Given the description of an element on the screen output the (x, y) to click on. 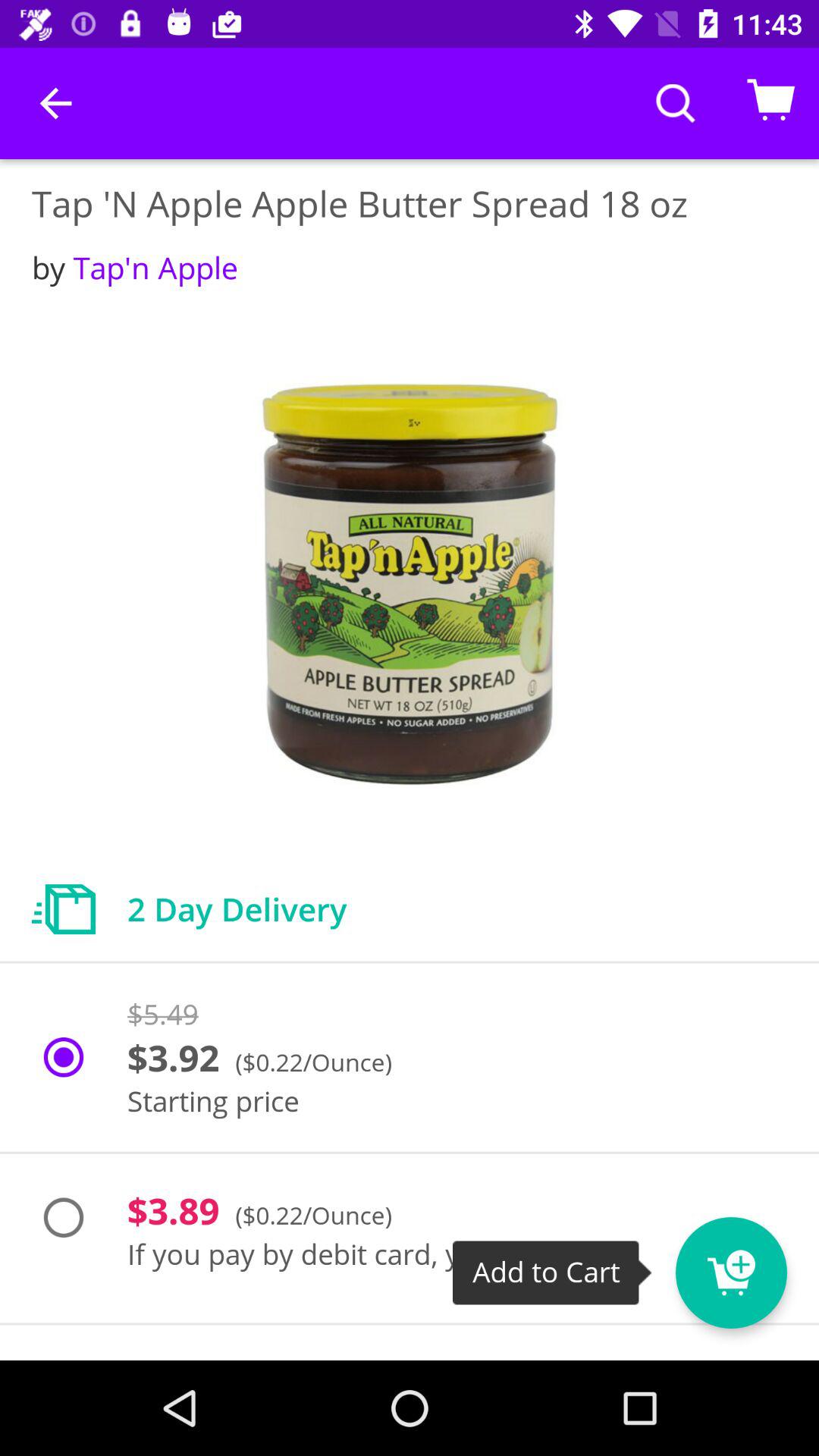
launch icon next to add to cart (731, 1272)
